Given the description of an element on the screen output the (x, y) to click on. 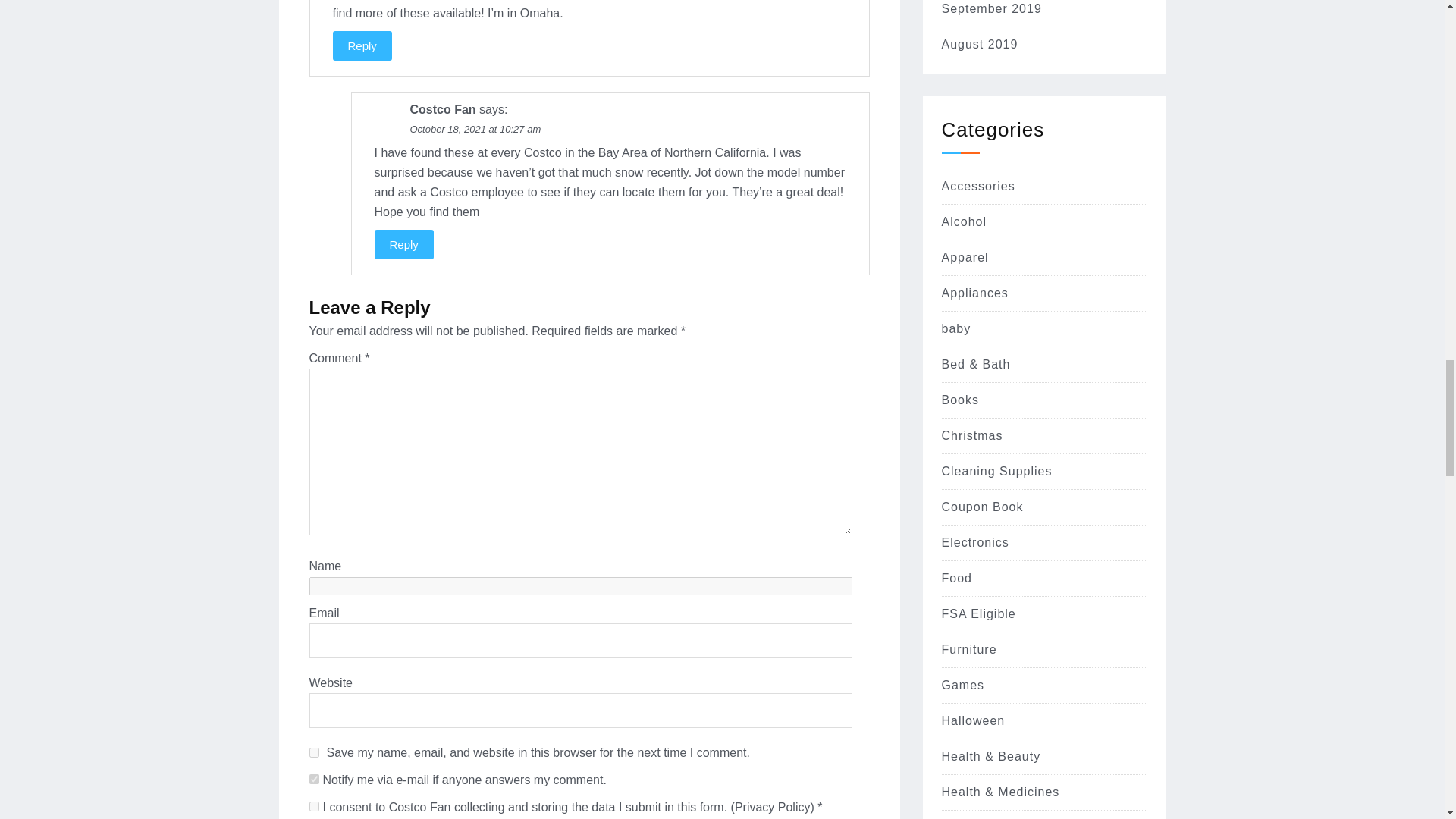
yes (313, 752)
Reply (361, 45)
Reply (403, 244)
October 18, 2021 at 10:27 am (474, 129)
yes (313, 806)
on (313, 778)
